Given the description of an element on the screen output the (x, y) to click on. 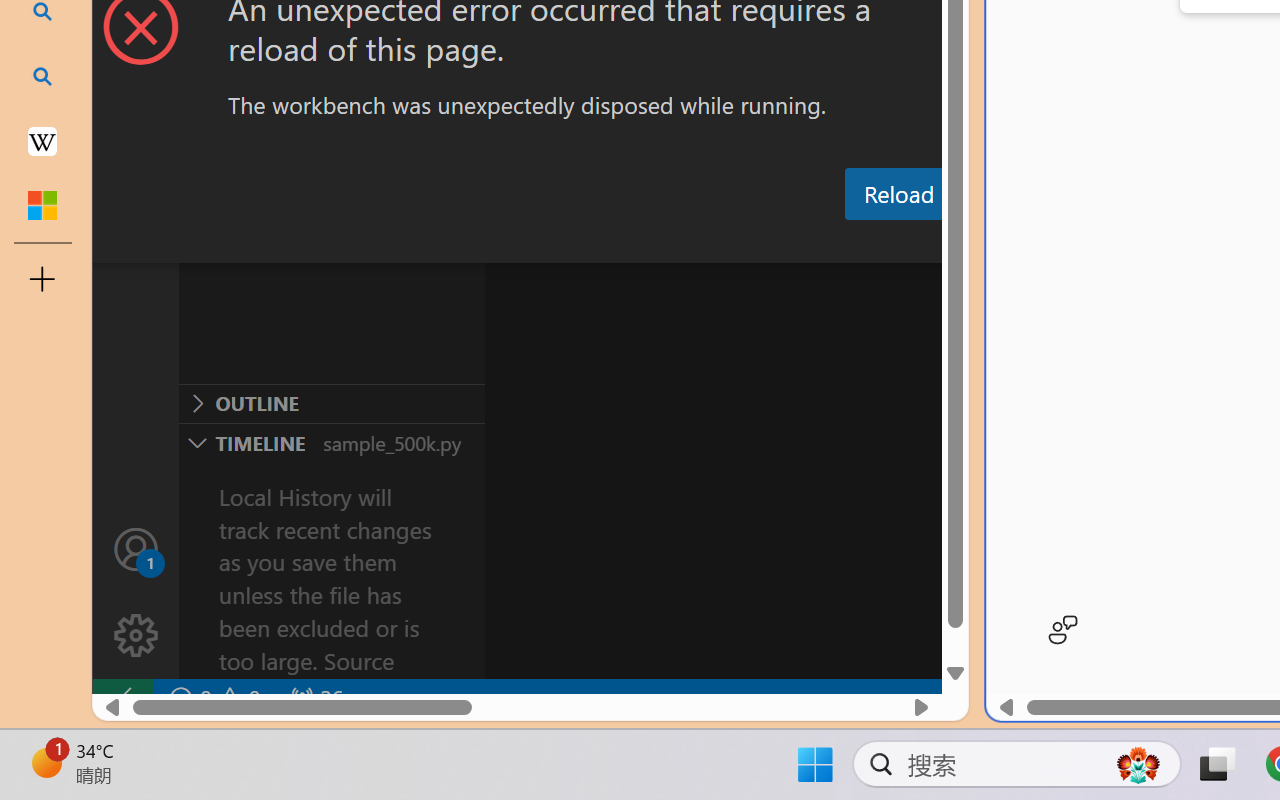
Earth - Wikipedia (42, 140)
Outline Section (331, 403)
Reload (898, 193)
Manage (135, 591)
Accounts - Sign in requested (135, 548)
No Problems (212, 698)
Timeline Section (331, 442)
Debug Console (Ctrl+Shift+Y) (854, 243)
